Given the description of an element on the screen output the (x, y) to click on. 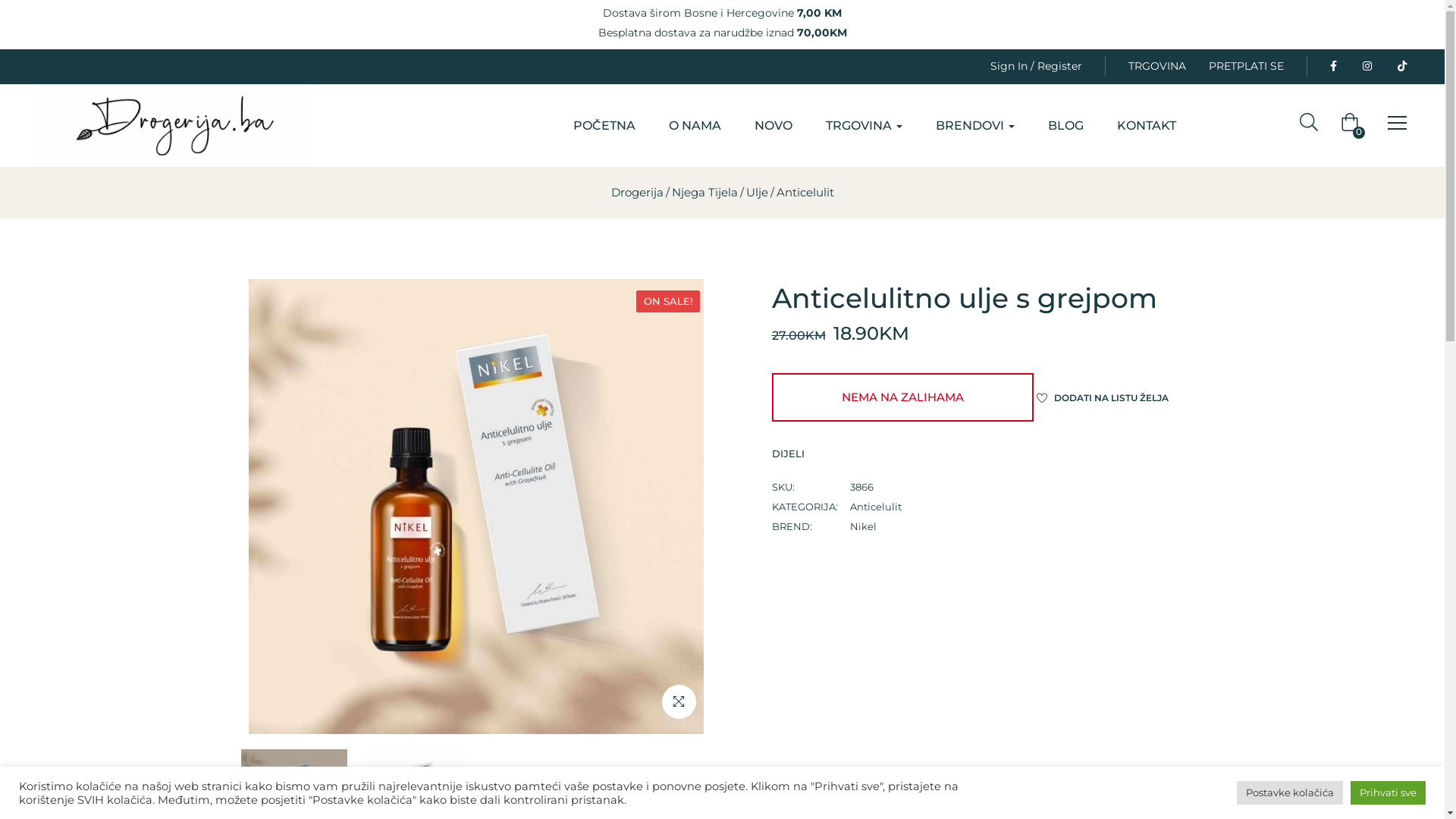
Antcelulitno ulje s grejpom_________ Element type: hover (475, 506)
NOVO Element type: text (773, 125)
BRENDOVI Element type: text (974, 125)
Ulje Element type: text (757, 192)
TRGOVINA Element type: text (1157, 66)
KONTAKT Element type: text (1146, 125)
0 Element type: text (1352, 125)
BLOG Element type: text (1065, 125)
O NAMA Element type: text (694, 125)
Njega Tijela Element type: text (704, 192)
Anticelulit Element type: text (874, 506)
TRGOVINA Element type: text (863, 125)
Anticelulit Element type: text (805, 192)
Sign In / Register Element type: text (1036, 66)
Drogerija Element type: text (637, 192)
Prihvati sve Element type: text (1387, 792)
Nikel Element type: text (862, 526)
DIJELI Element type: text (809, 453)
